Given the description of an element on the screen output the (x, y) to click on. 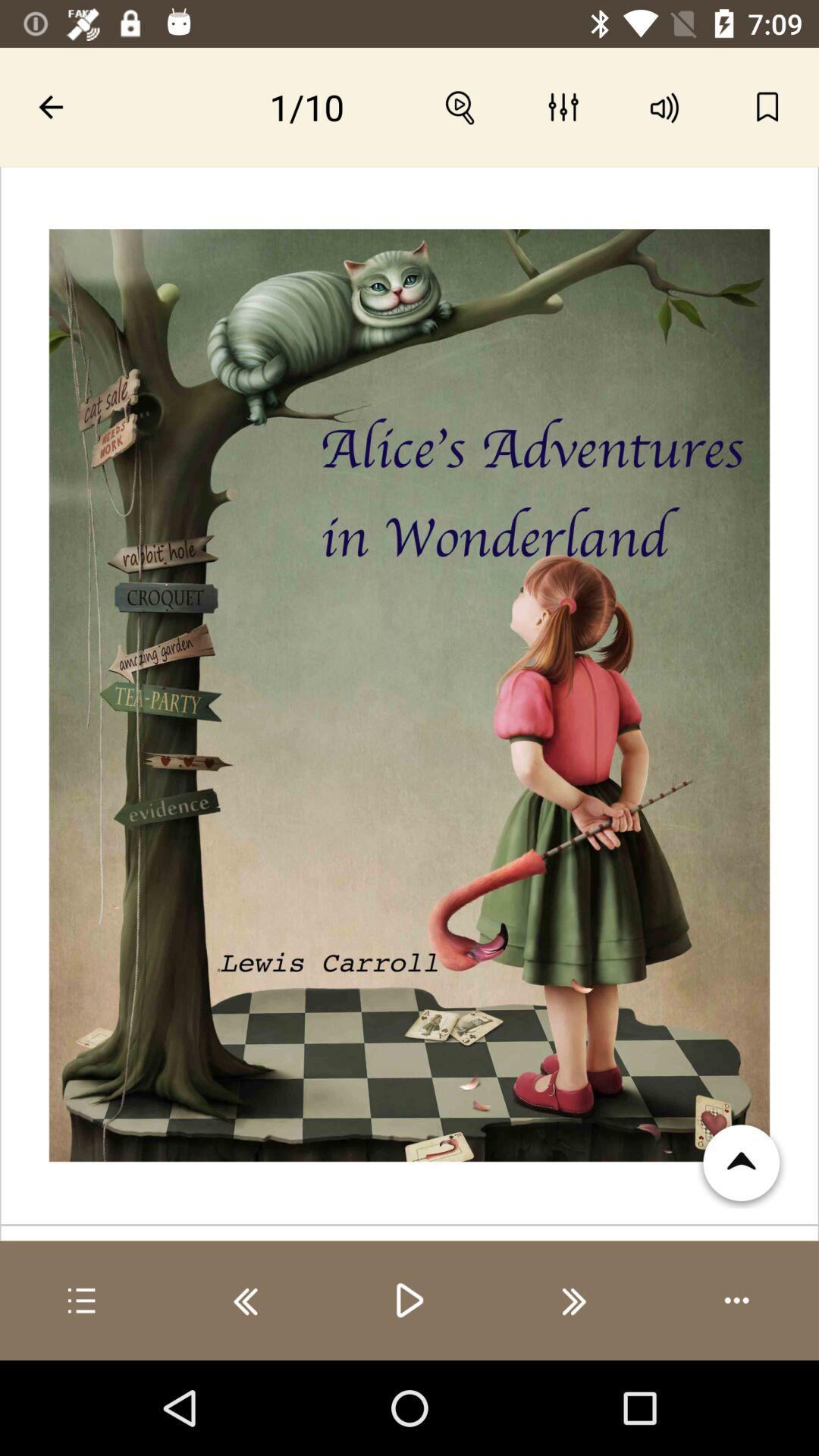
menu (81, 1300)
